Given the description of an element on the screen output the (x, y) to click on. 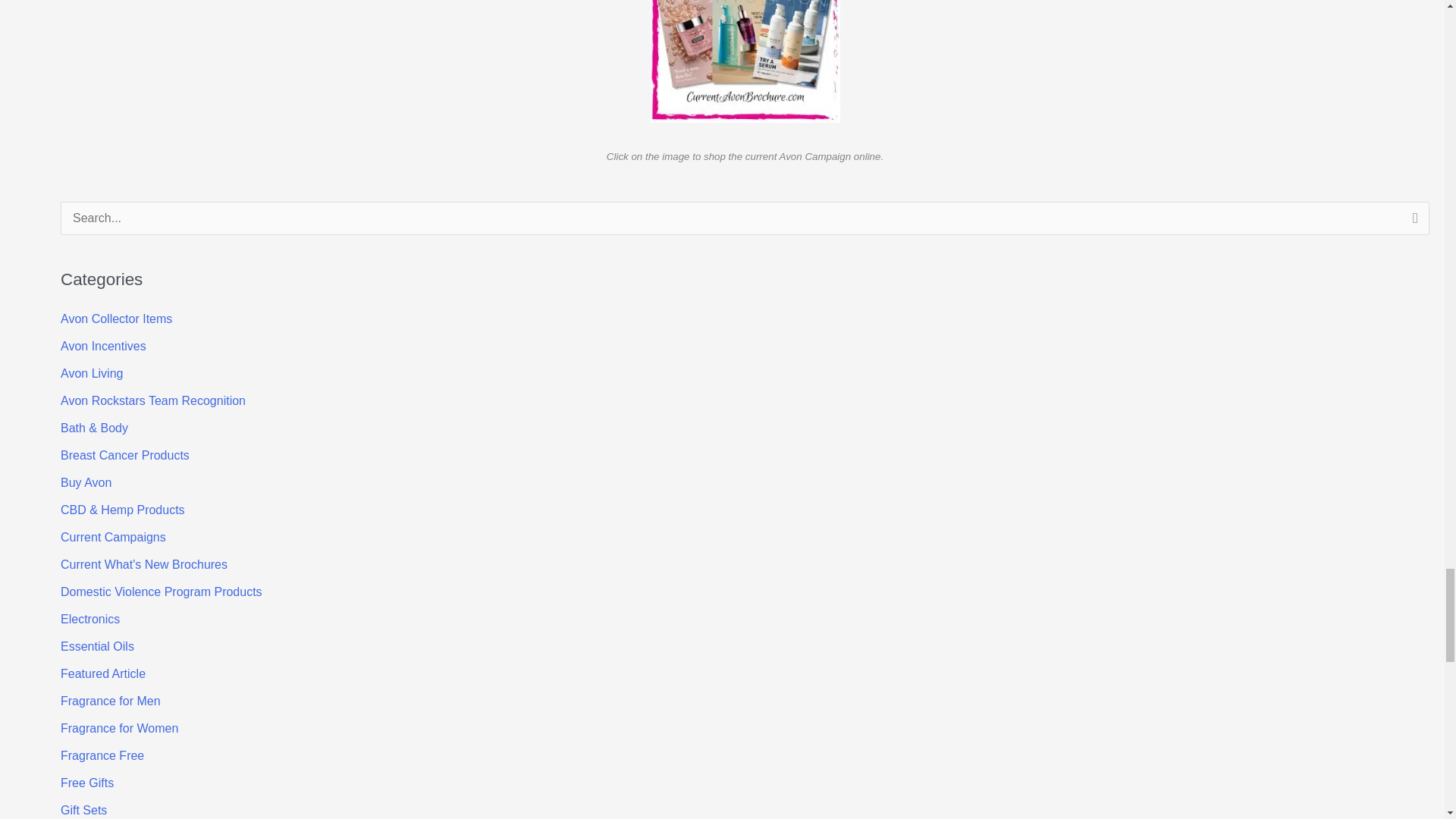
Search (1411, 222)
Search (1411, 222)
